Given the description of an element on the screen output the (x, y) to click on. 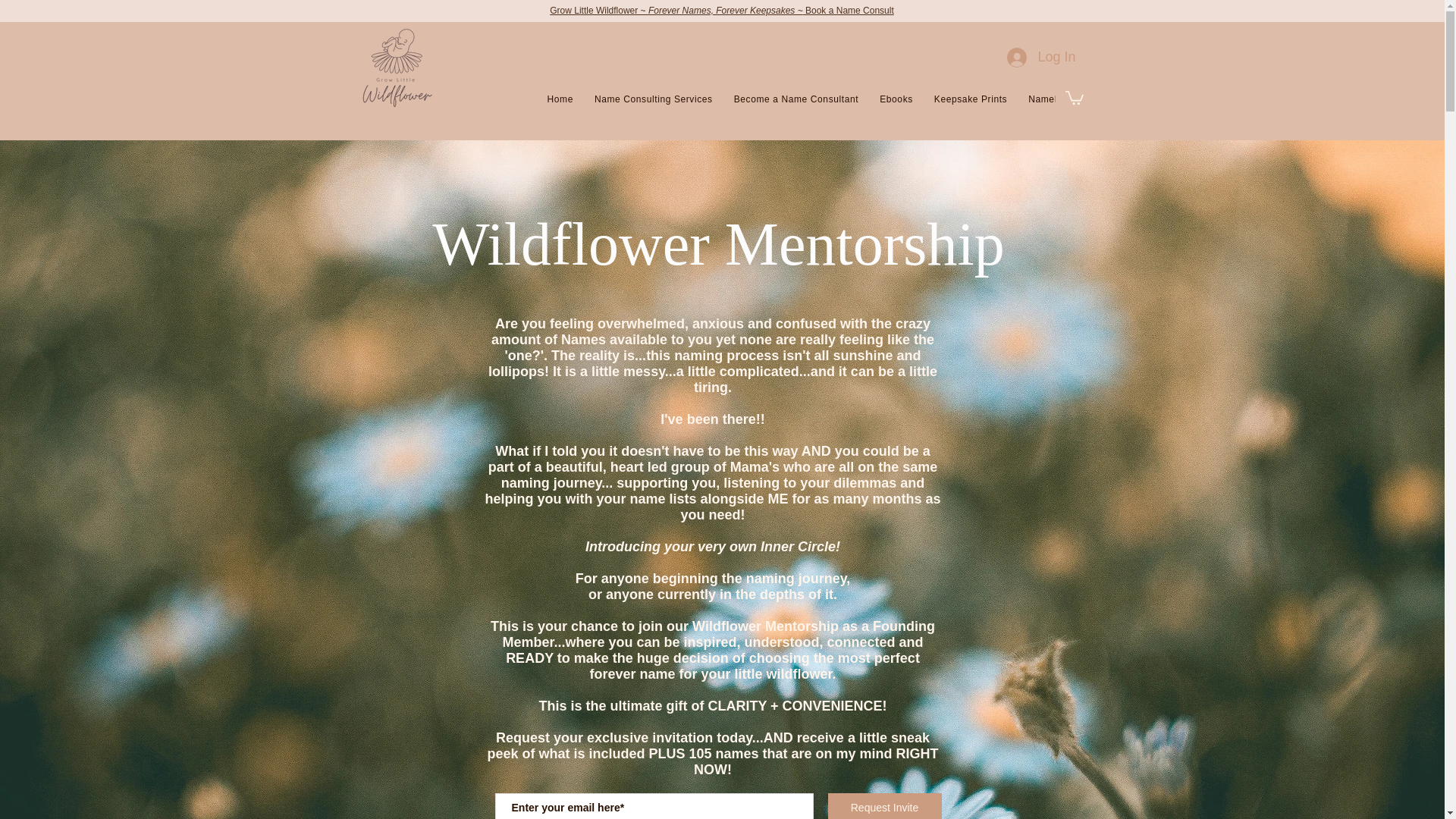
Keepsake Prints (970, 99)
Become a Name Consultant (796, 99)
Blog (1138, 99)
Home (560, 99)
Name Consulting Services (653, 99)
NameNews Letter (1067, 99)
Contact (1187, 99)
Log In (1040, 57)
Ebooks (896, 99)
Request Invite (885, 806)
